Given the description of an element on the screen output the (x, y) to click on. 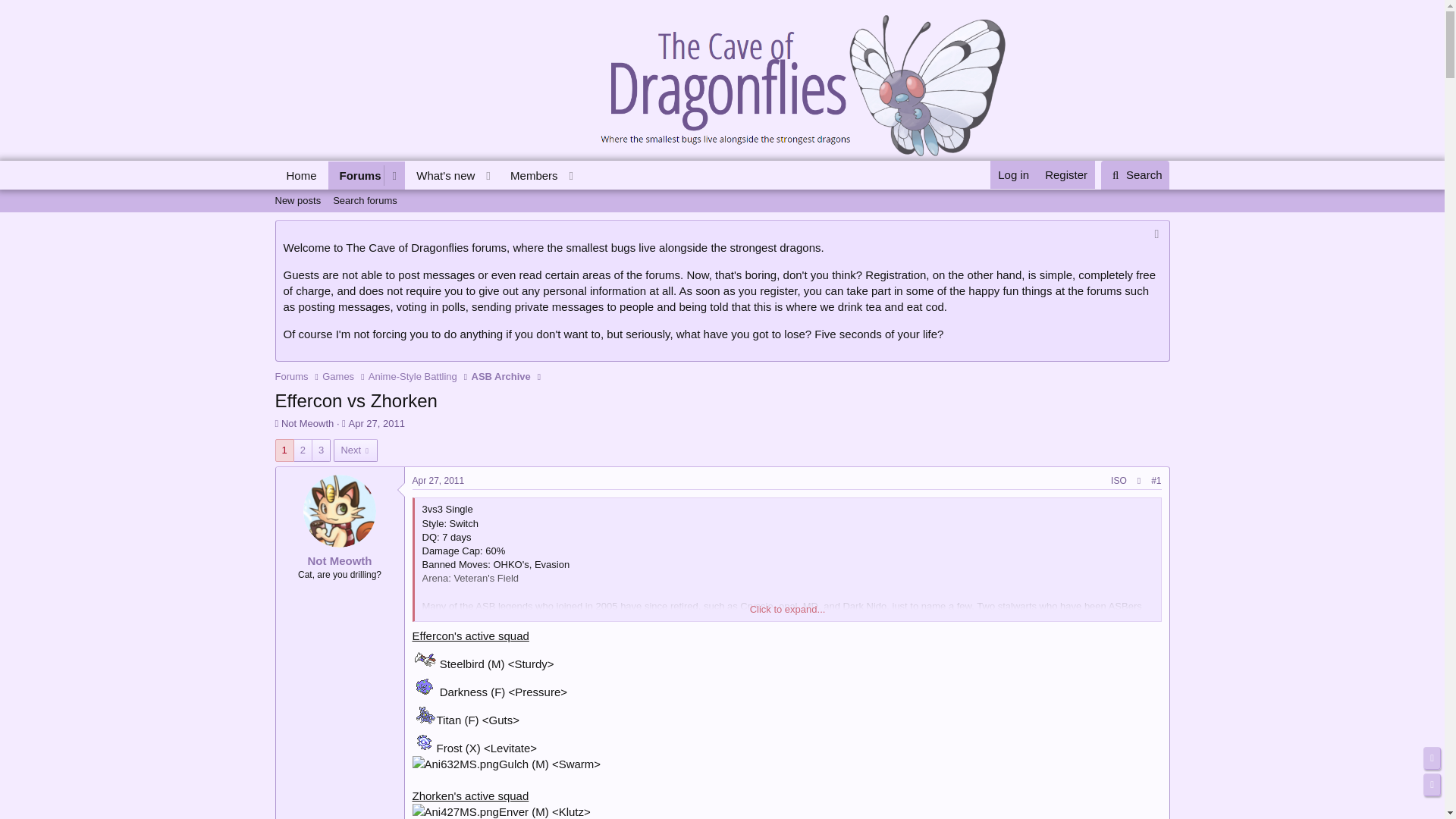
Search (1135, 174)
Members (529, 175)
Not Meowth (427, 192)
Games (307, 423)
Forums (337, 376)
Ani427MS.png (291, 376)
What's new (455, 811)
Apr 27, 2011 (440, 175)
New posts (375, 423)
Ani632MS.png (296, 200)
ASB Archive (455, 763)
Register (501, 376)
Search (1065, 174)
